Given the description of an element on the screen output the (x, y) to click on. 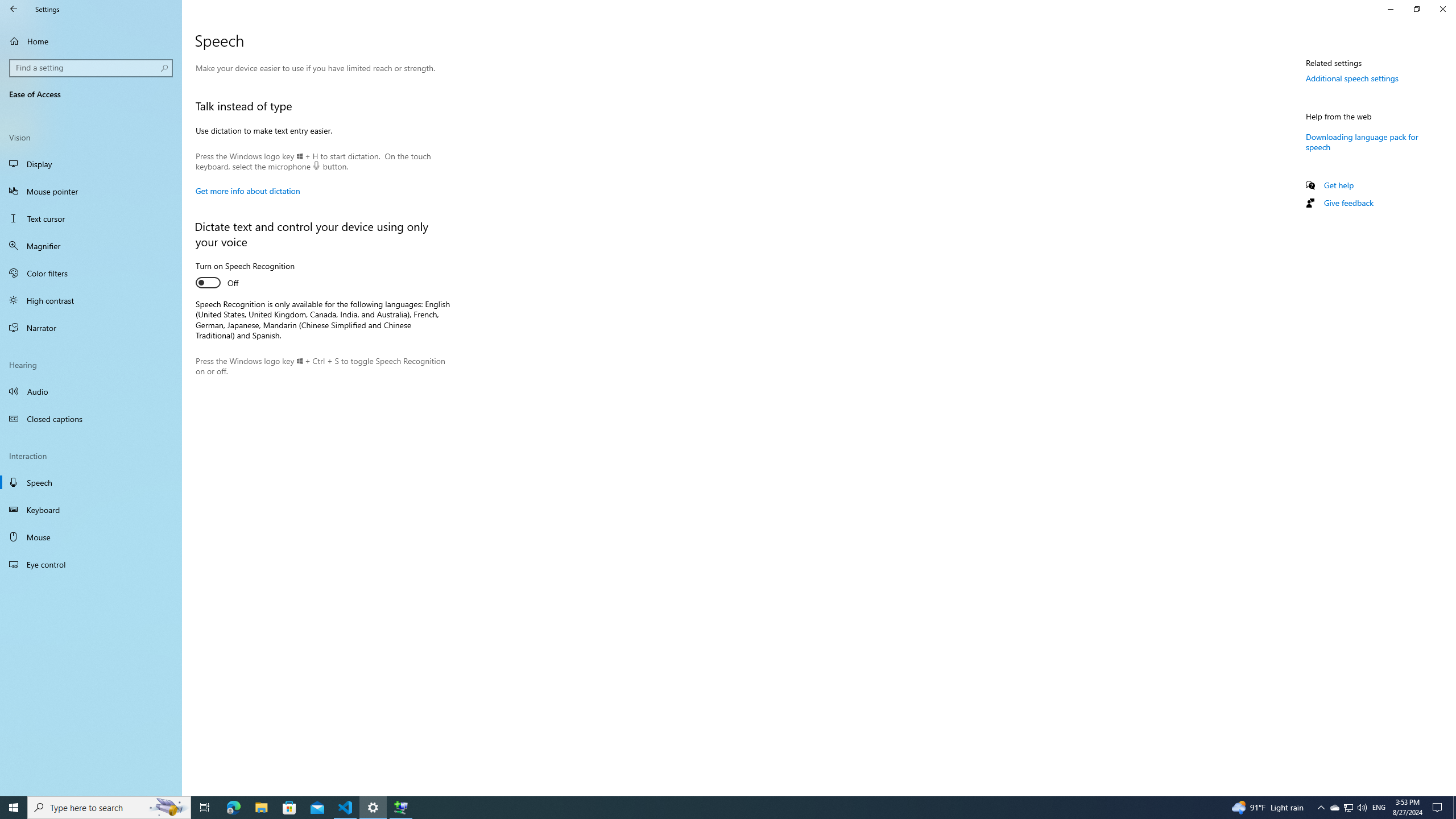
Audio (91, 390)
Eye control (91, 564)
